Given the description of an element on the screen output the (x, y) to click on. 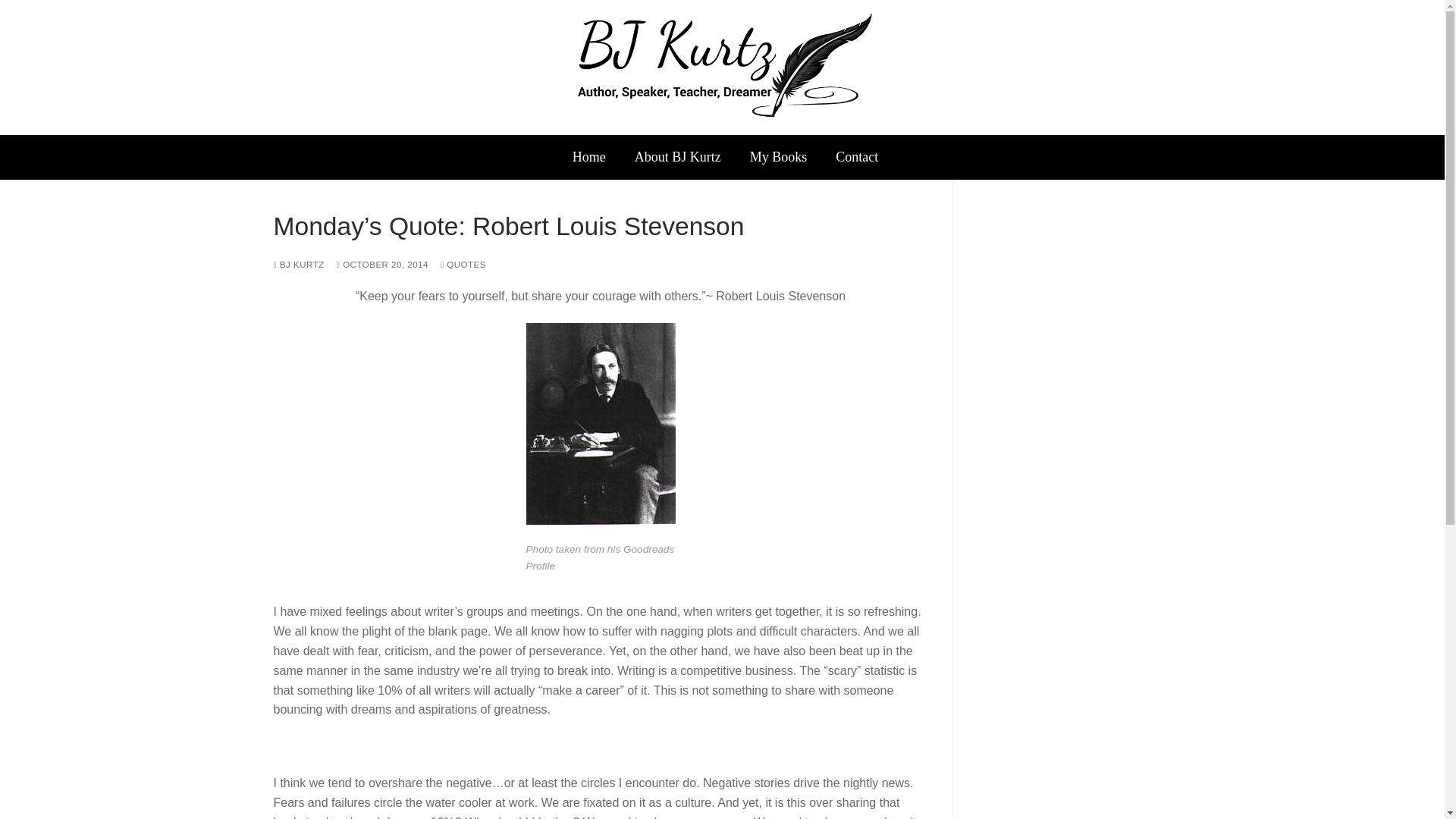
OCTOBER 20, 2014 (382, 264)
QUOTES (463, 264)
Robert Louis Stevenson (600, 520)
Contact (856, 156)
About BJ Kurtz (677, 156)
My Books (778, 156)
BJ KURTZ (298, 264)
Home (589, 156)
